Given the description of an element on the screen output the (x, y) to click on. 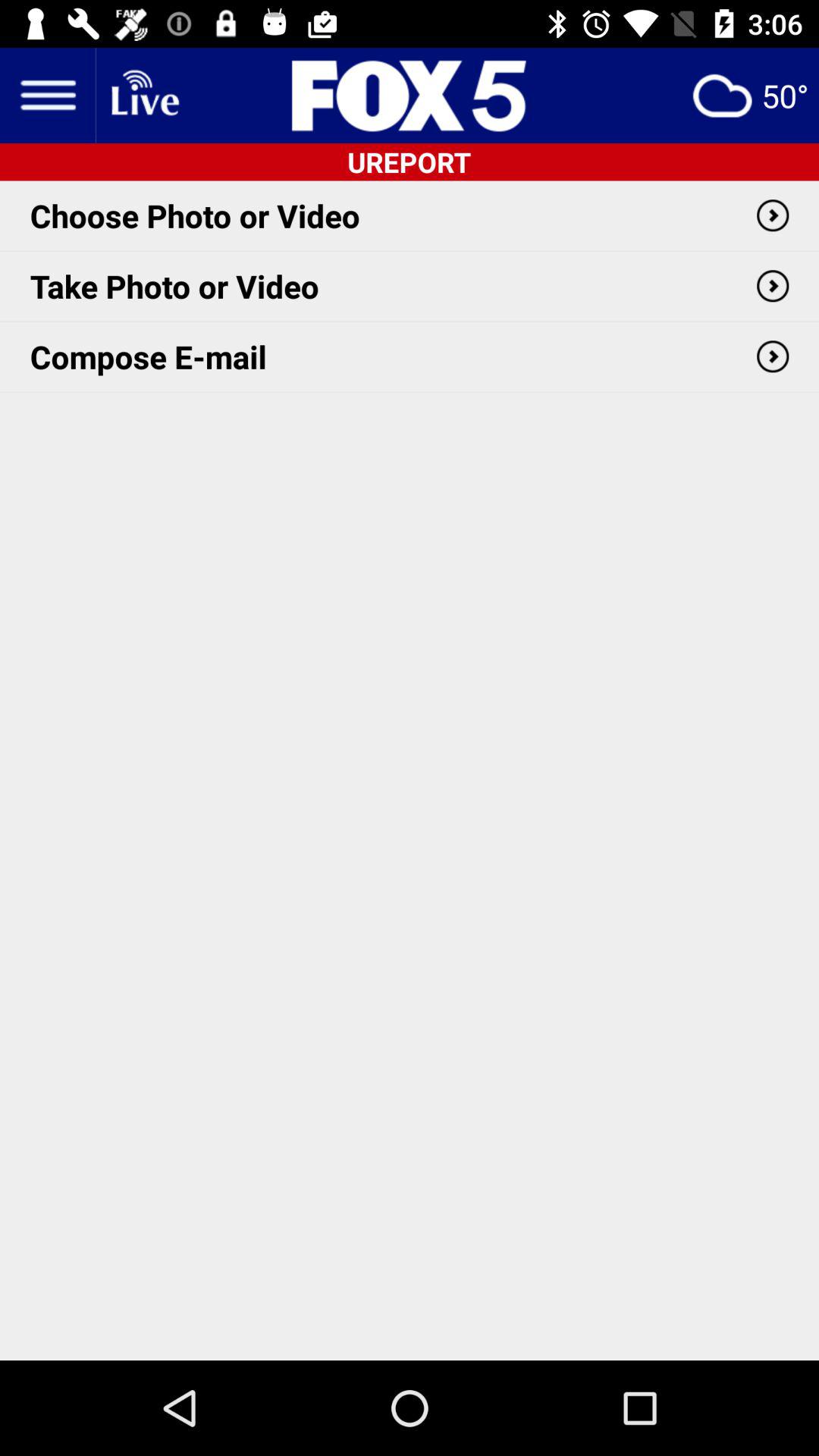
select the top right corner icon (750, 95)
select a text fox5 which is above ureport on a page (409, 94)
